Given the description of an element on the screen output the (x, y) to click on. 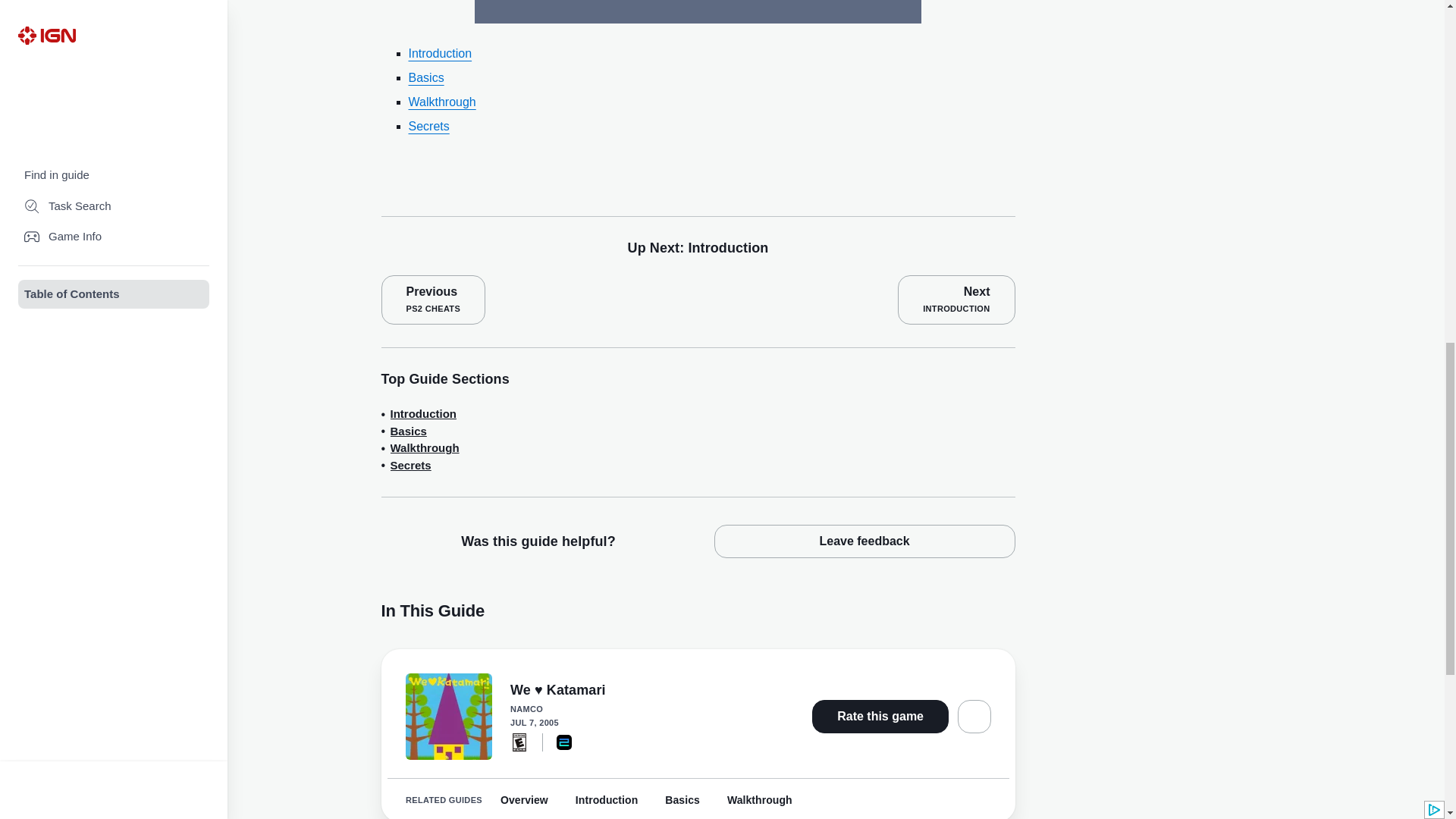
Introduction (439, 52)
PlayStation 2 (564, 741)
Introduction (439, 52)
Leave feedback (864, 540)
Basics (432, 299)
Secrets (956, 299)
Walkthrough (408, 431)
Introduction (427, 125)
Walkthrough (441, 101)
ESRB: Everyone (422, 414)
Basics (424, 448)
Secrets (518, 741)
